Given the description of an element on the screen output the (x, y) to click on. 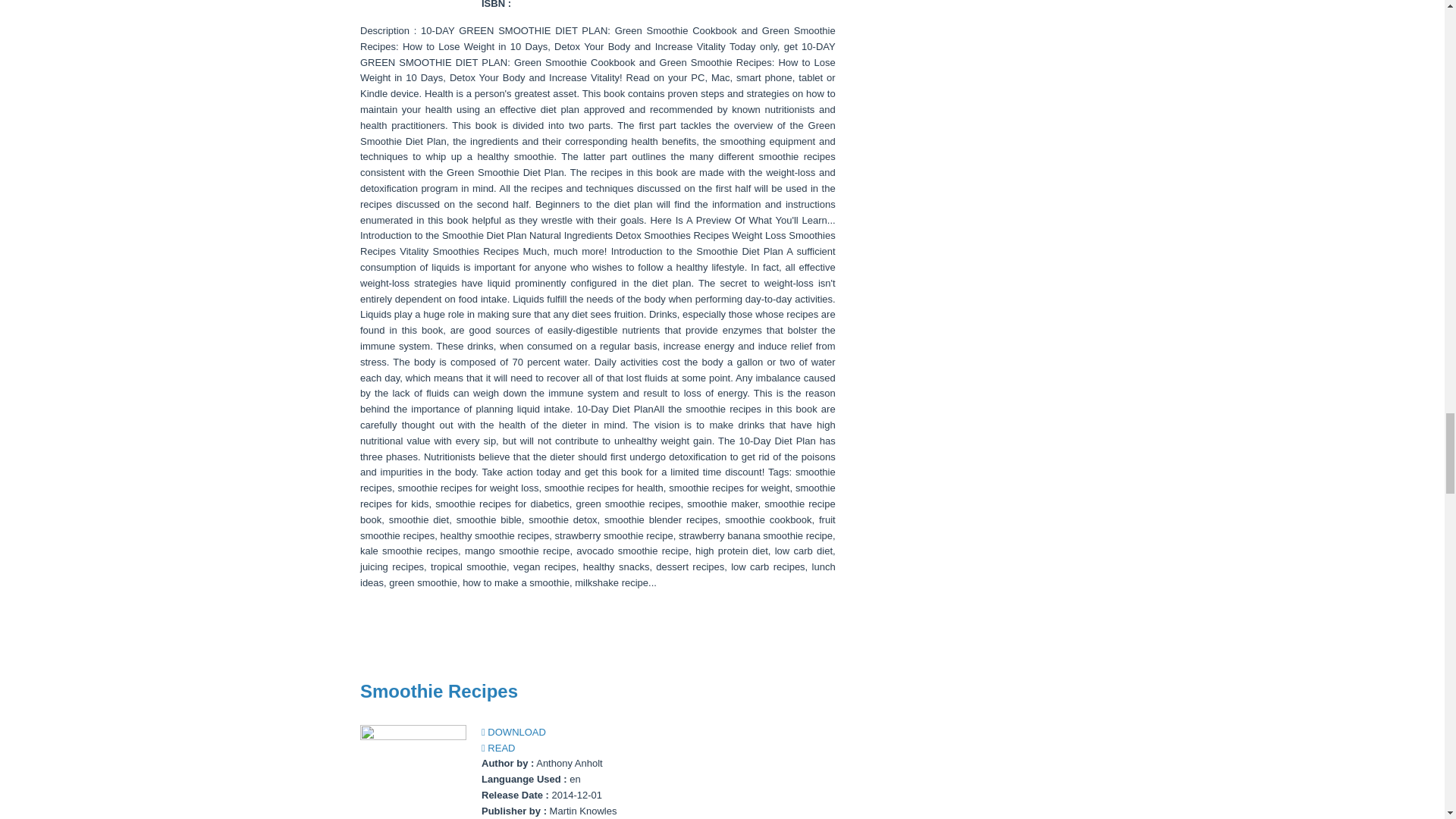
Smoothie Recipes (438, 690)
READ (498, 747)
DOWNLOAD (513, 731)
Smoothie Recipes (438, 690)
